Given the description of an element on the screen output the (x, y) to click on. 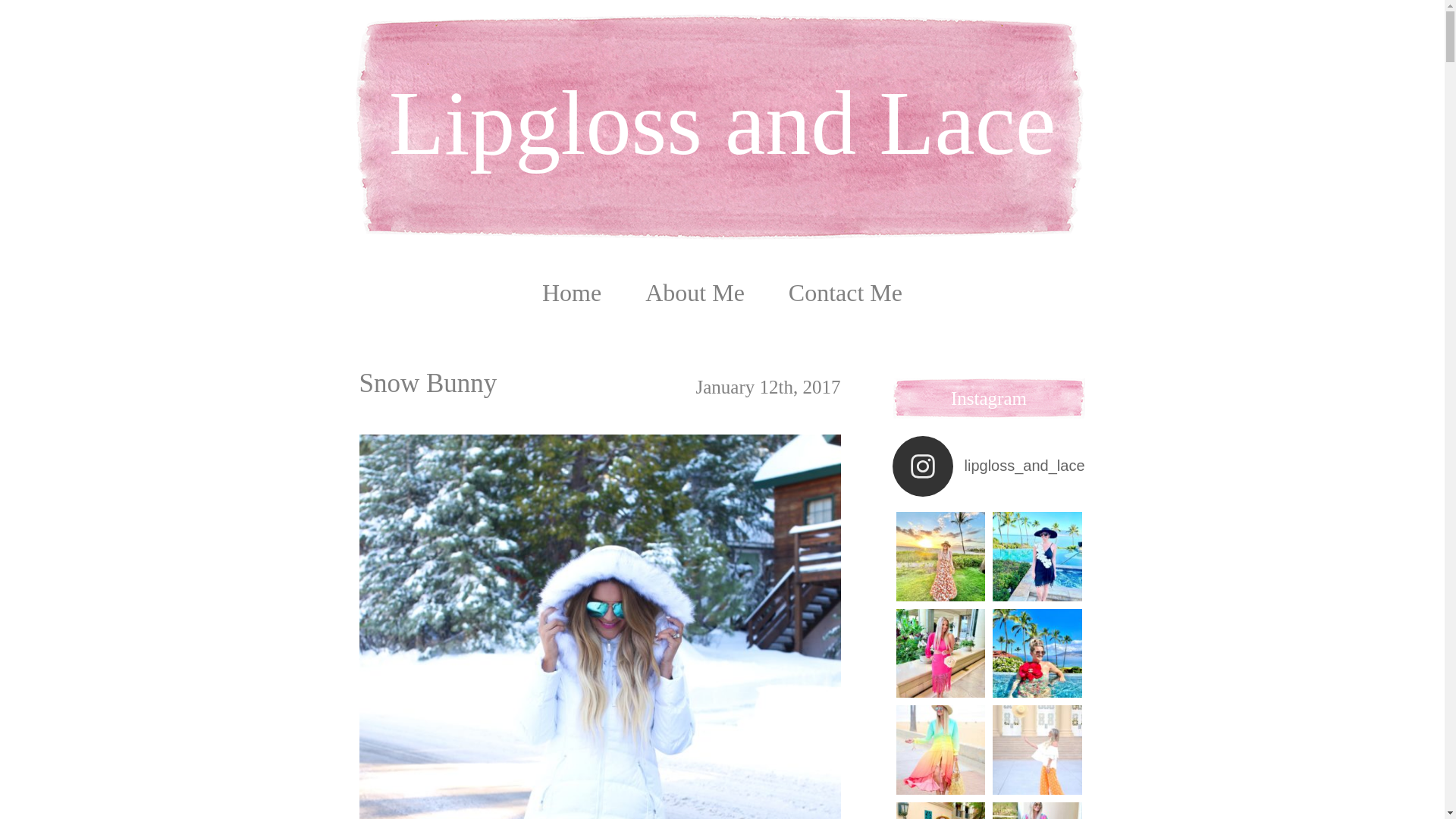
Contact Me (845, 293)
About Me (694, 293)
Home (571, 293)
Lipgloss and Lace (722, 92)
